Given the description of an element on the screen output the (x, y) to click on. 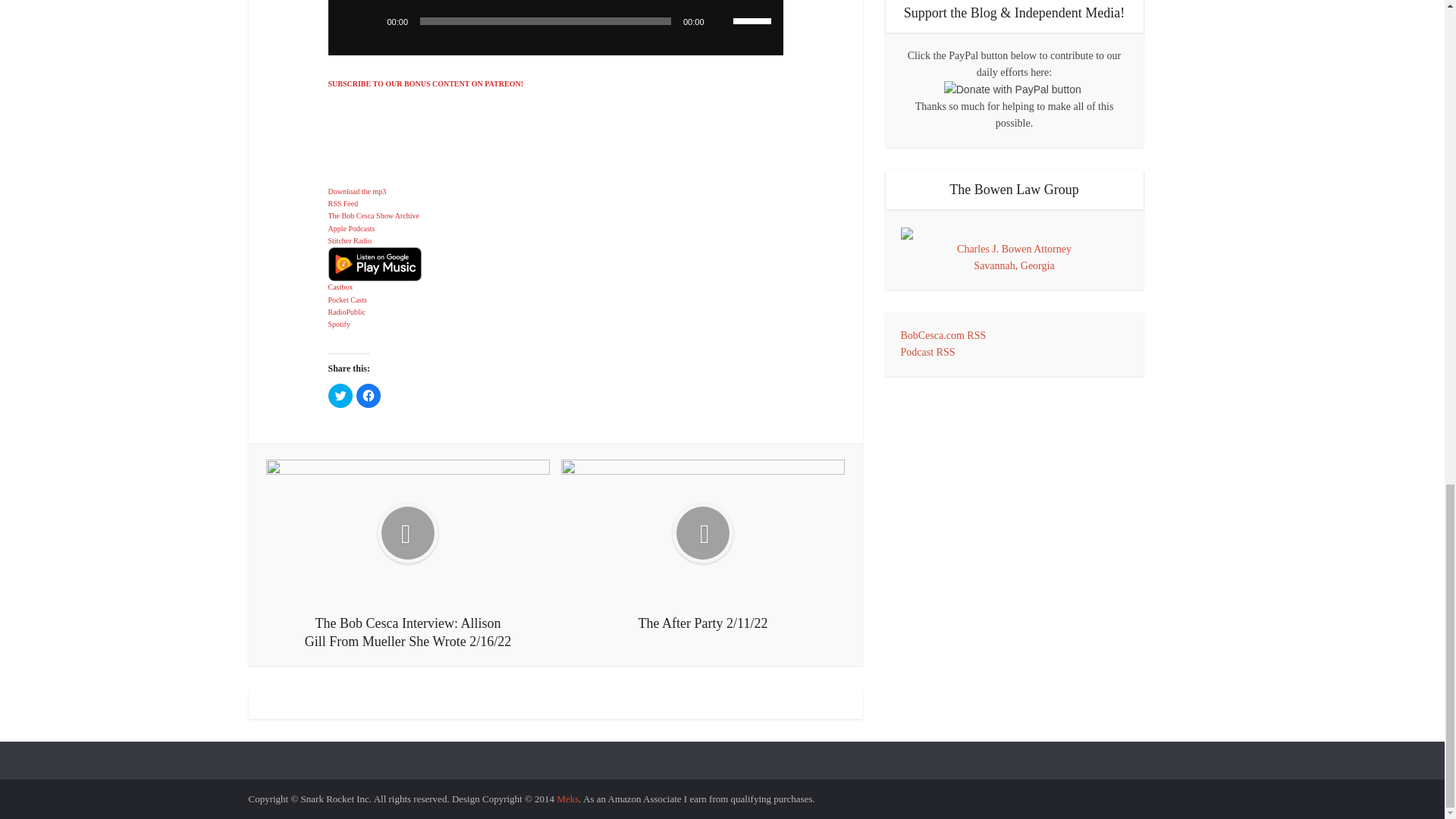
Apple Podcasts (350, 228)
The Bob Cesca Show Archive (373, 215)
Download the mp3 (356, 191)
Click to share on Twitter (339, 395)
Play (369, 20)
RSS Feed (342, 203)
SUBSCRIBE TO OUR BONUS CONTENT ON PATREON! (424, 83)
Click to share on Facebook (368, 395)
Mute (720, 20)
Stitcher Radio (349, 240)
